Given the description of an element on the screen output the (x, y) to click on. 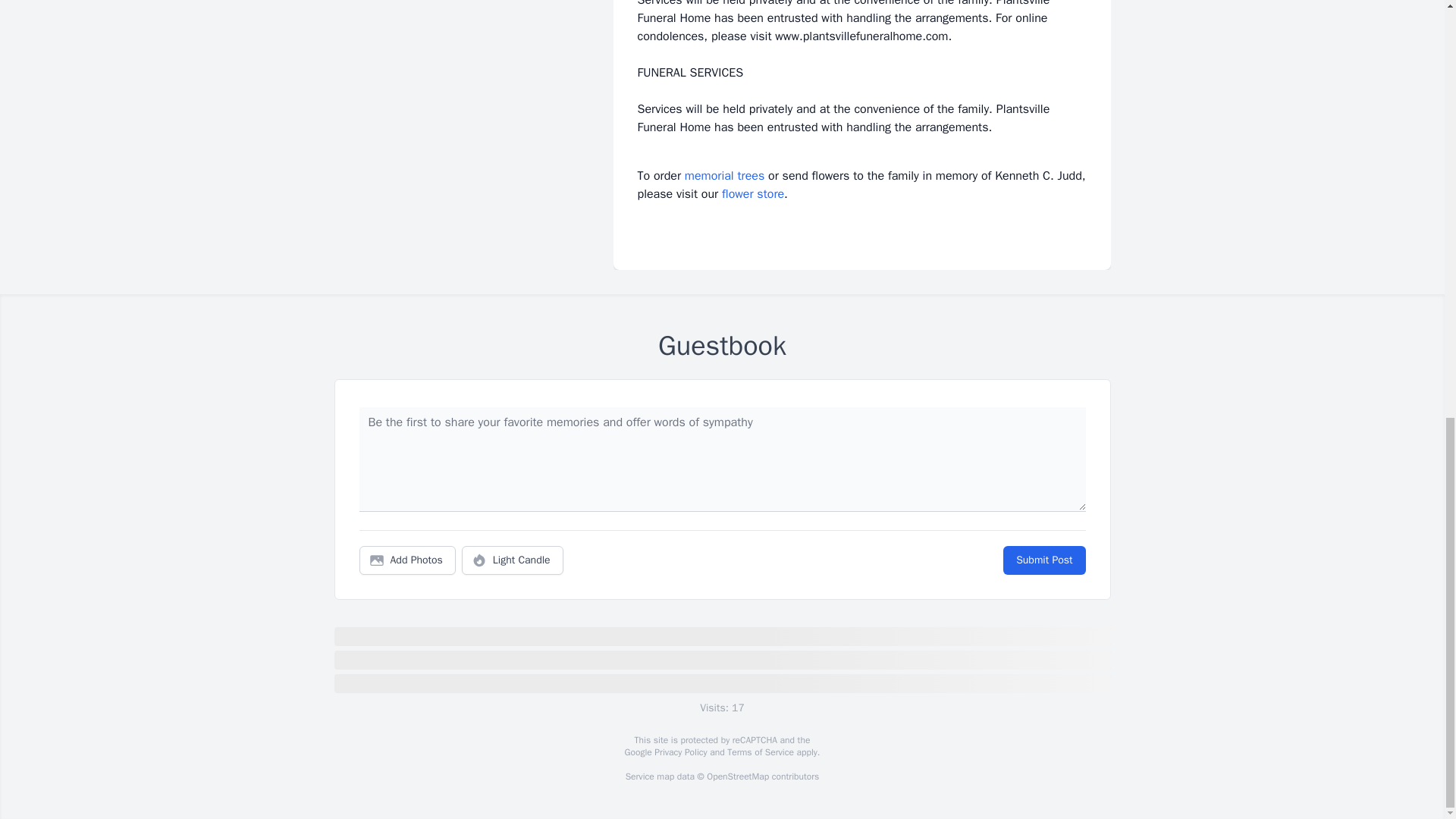
Light Candle (512, 560)
OpenStreetMap (737, 776)
Terms of Service (759, 752)
Privacy Policy (679, 752)
Add Photos (407, 560)
Submit Post (1043, 560)
memorial trees (724, 175)
flower store (753, 193)
